Given the description of an element on the screen output the (x, y) to click on. 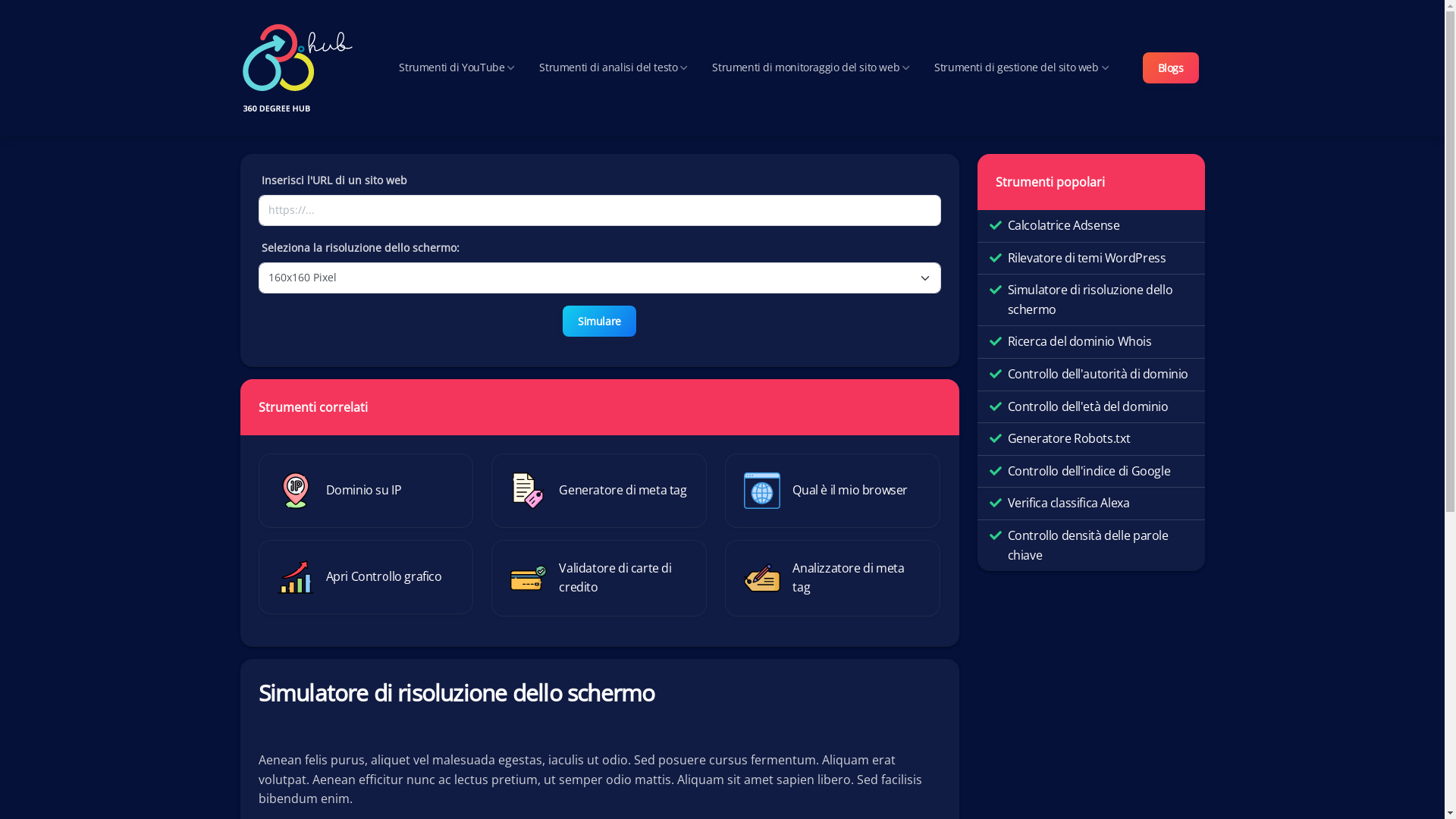
Simulatore di risoluzione dello schermo Element type: text (1099, 299)
Calcolatrice Adsense Element type: text (1063, 225)
Dominio su IP Element type: text (365, 490)
Strumenti di analisi del testo Element type: text (613, 67)
Ricerca del dominio Whois Element type: text (1079, 341)
Apri Controllo grafico Element type: text (365, 576)
Strumenti di monitoraggio del sito web Element type: text (811, 67)
Validatore di carte di credito Element type: text (598, 577)
Generatore di meta tag Element type: text (598, 490)
Generatore Robots.txt Element type: text (1068, 438)
Analizzatore di meta tag Element type: text (832, 577)
Blogs Element type: text (1170, 67)
Strumenti di YouTube Element type: text (456, 67)
Strumenti di gestione del sito web Element type: text (1021, 67)
Rilevatore di temi WordPress Element type: text (1086, 258)
Verifica classifica Alexa Element type: text (1068, 503)
Controllo dell'indice di Google Element type: text (1088, 471)
Simulare Element type: text (599, 320)
360 Degree Hub Seo Tools Element type: hover (296, 67)
